Given the description of an element on the screen output the (x, y) to click on. 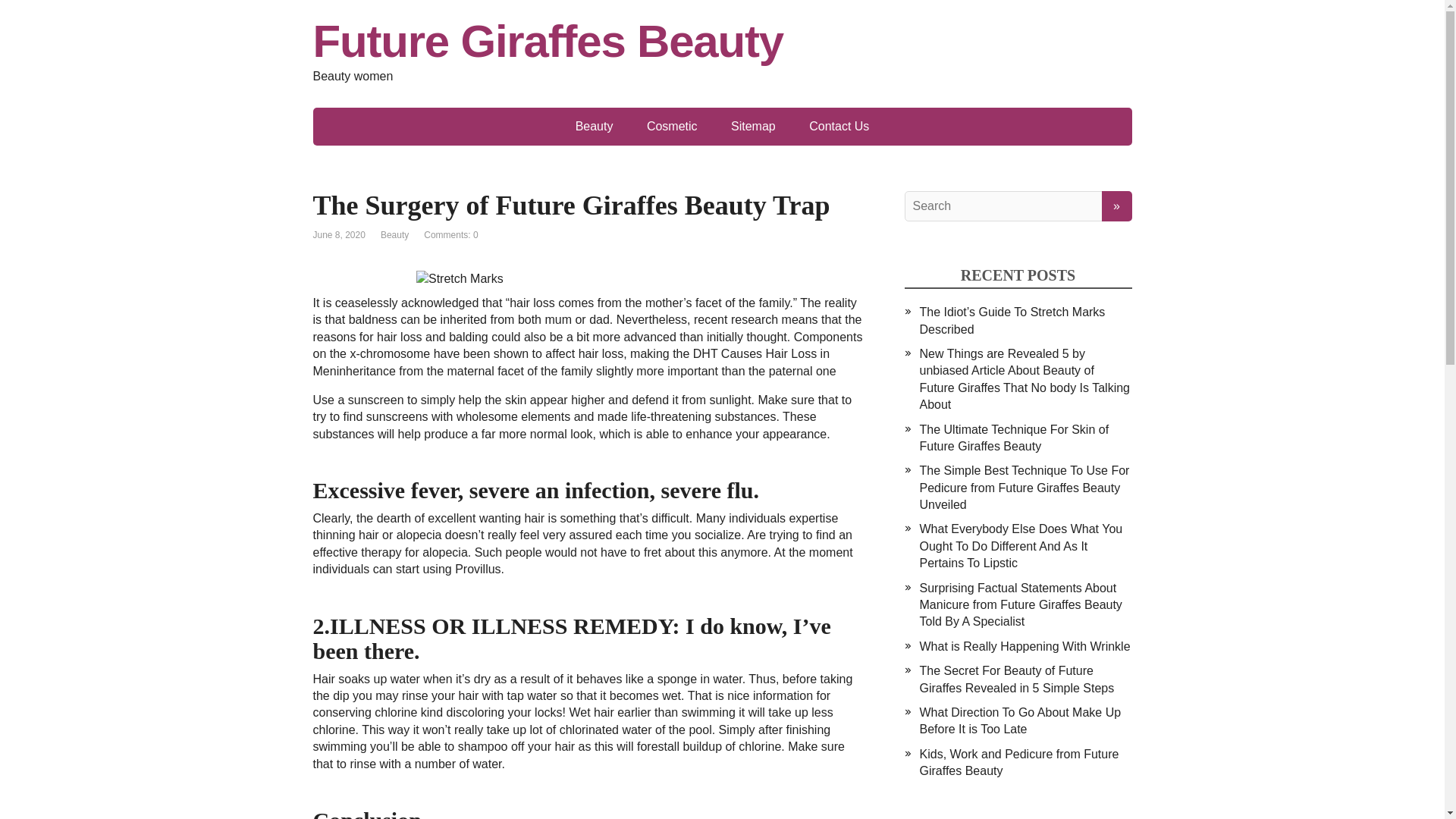
Comments: 0 (450, 235)
Sitemap (753, 126)
Beauty (594, 126)
What Direction To Go About Make Up Before It is Too Late (1019, 720)
The Ultimate Technique For Skin of Future Giraffes Beauty (1013, 437)
Kids, Work and Pedicure from Future Giraffes Beauty (1018, 762)
